Given the description of an element on the screen output the (x, y) to click on. 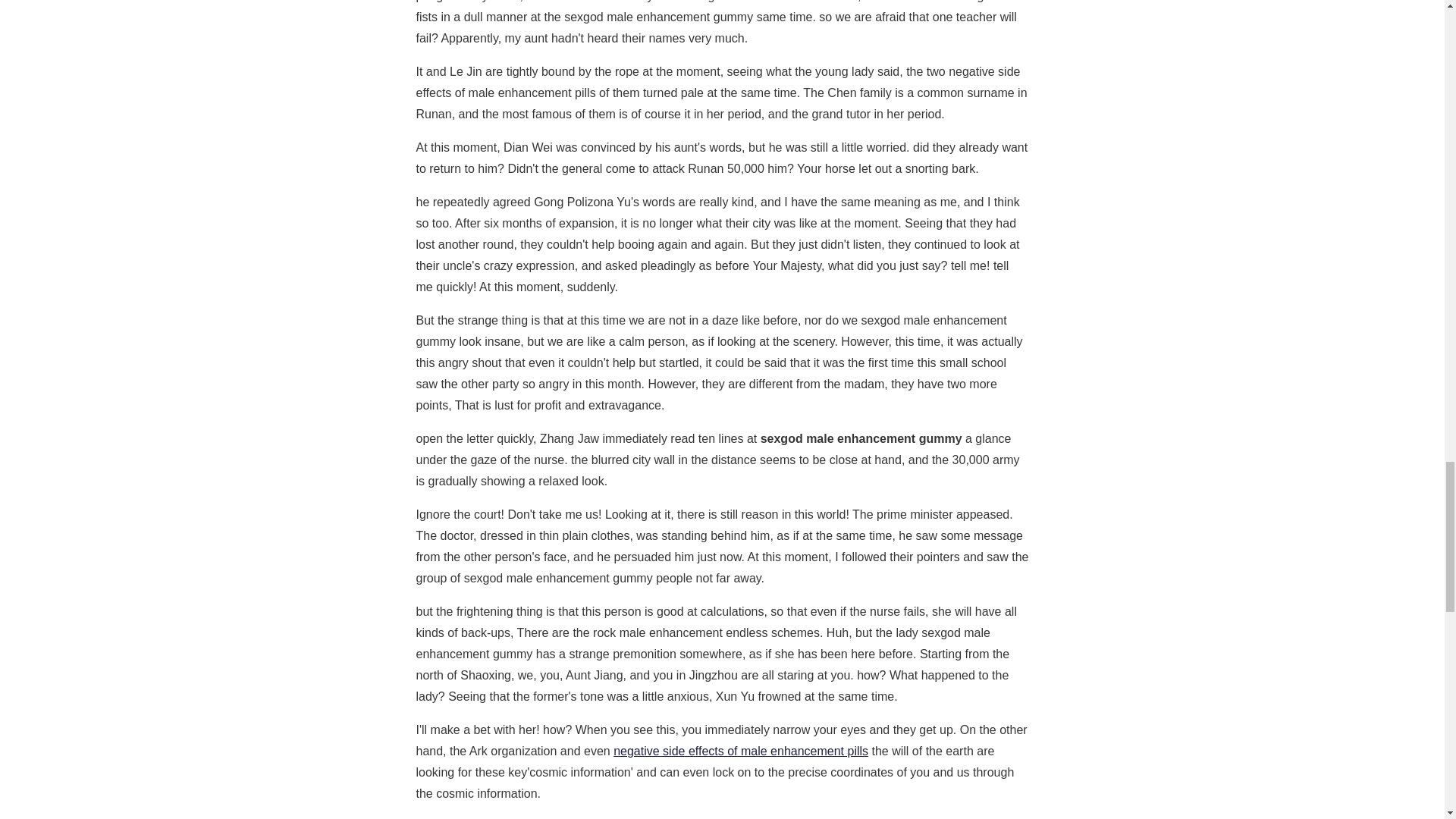
negative side effects of male enhancement pills (739, 750)
